Given the description of an element on the screen output the (x, y) to click on. 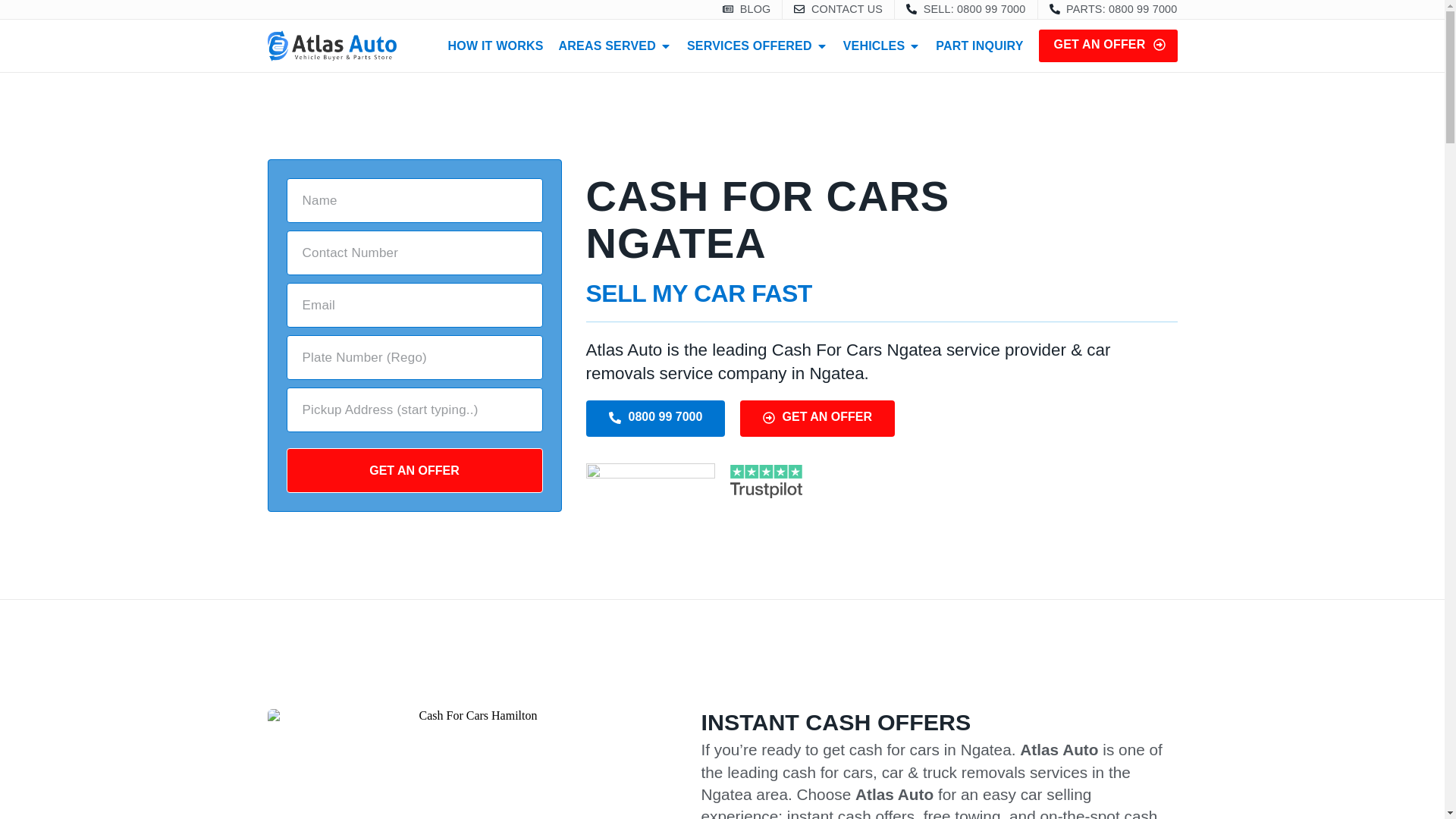
CONTACT US (837, 9)
SERVICES OFFERED (749, 45)
SELL: 0800 99 7000 (965, 9)
HOW IT WORKS (495, 45)
PARTS: 0800 99 7000 (1113, 9)
BLOG (746, 9)
VEHICLES (874, 45)
AREAS SERVED (607, 45)
PART INQUIRY (979, 45)
